Given the description of an element on the screen output the (x, y) to click on. 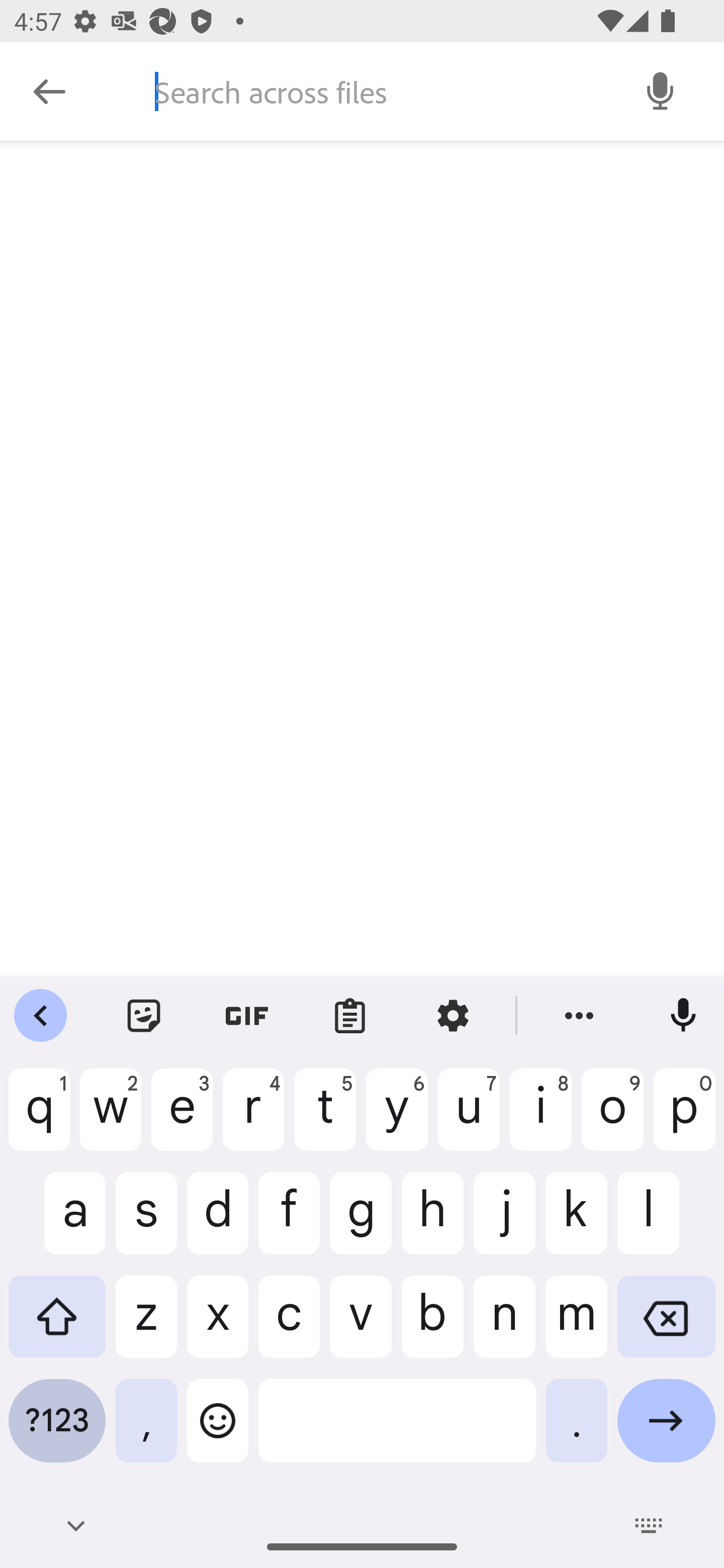
Navigate up (49, 91)
Voice search (660, 90)
Search across files (375, 91)
